Given the description of an element on the screen output the (x, y) to click on. 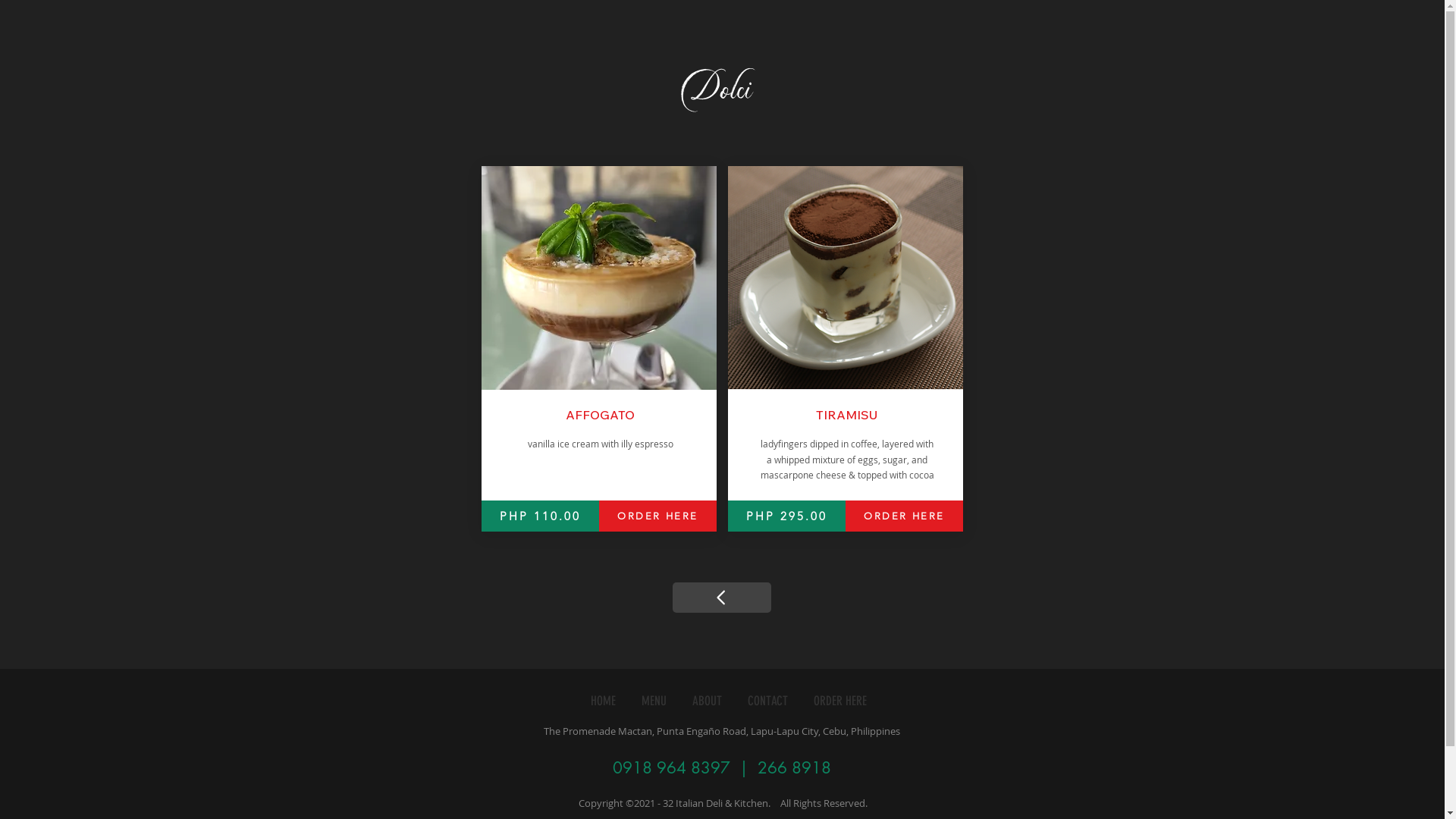
PHP 295.00 Element type: text (786, 515)
ORDER HERE Element type: text (657, 515)
PHP 110.00 Element type: text (540, 515)
CONTACT Element type: text (767, 700)
ABOUT Element type: text (706, 700)
MENU Element type: text (652, 700)
ORDER HERE Element type: text (839, 700)
HOME Element type: text (602, 700)
ORDER HERE Element type: text (904, 515)
